Given the description of an element on the screen output the (x, y) to click on. 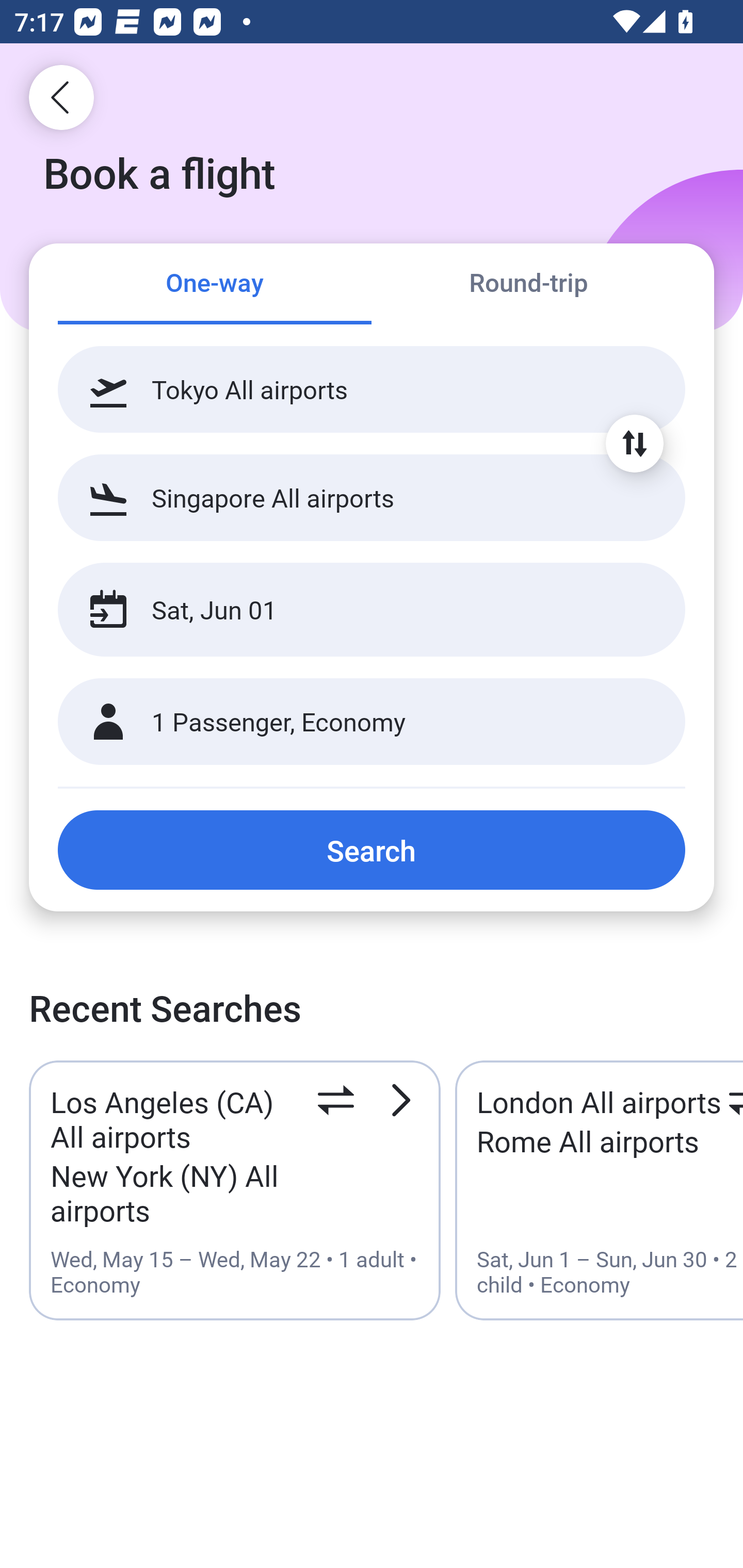
Round-trip (528, 284)
Tokyo All airports (371, 389)
Singapore All airports (371, 497)
Sat, Jun 01 (349, 609)
1 Passenger, Economy (371, 721)
Search (371, 849)
